Given the description of an element on the screen output the (x, y) to click on. 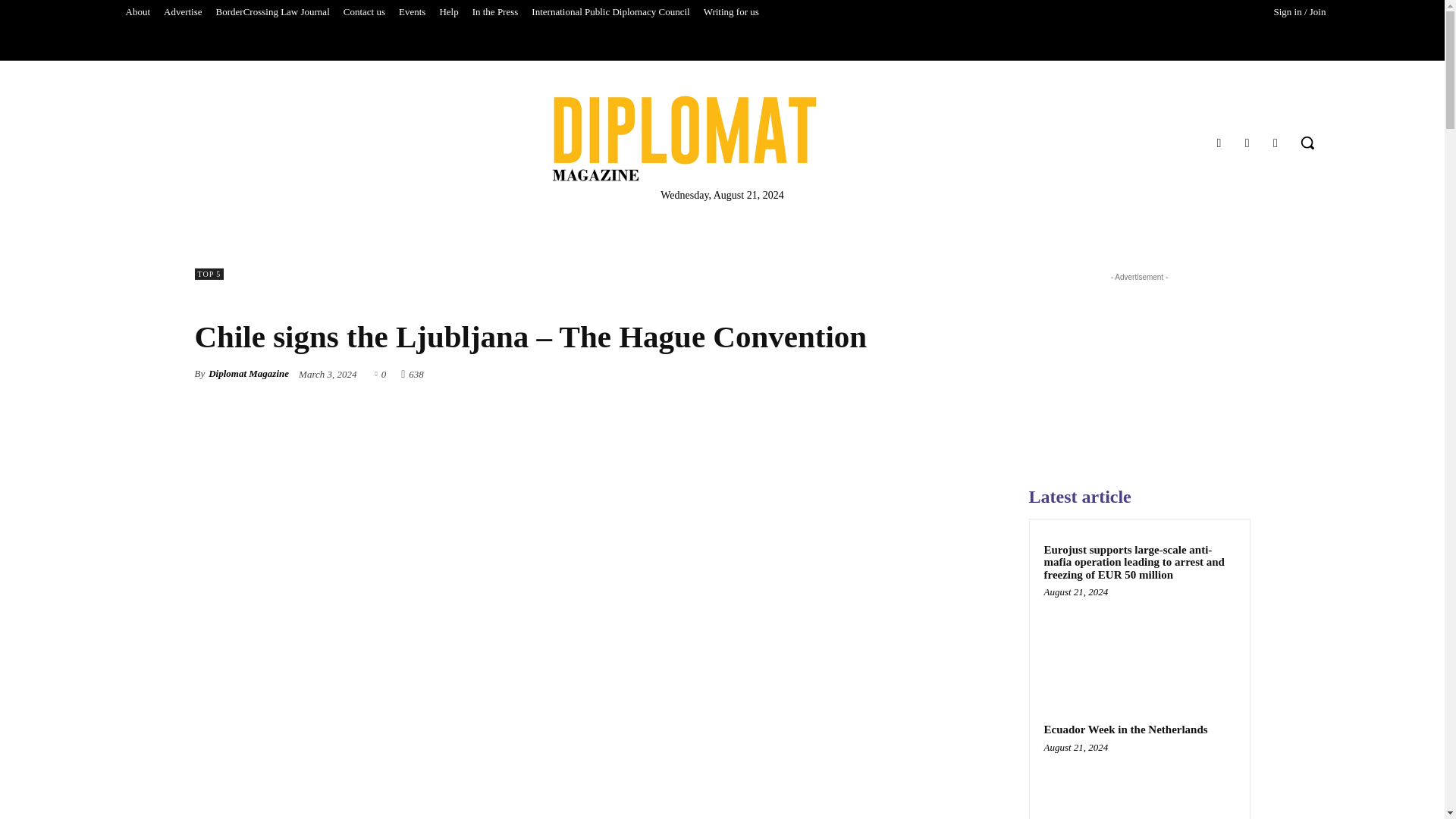
Facebook (1218, 142)
In the Press (495, 12)
About (137, 12)
Help (448, 12)
Events (411, 12)
International Public Diplomacy Council (609, 12)
Advertise (183, 12)
Contact us (363, 12)
Diplomat Magazine (683, 138)
Instagram (1246, 142)
